Given the description of an element on the screen output the (x, y) to click on. 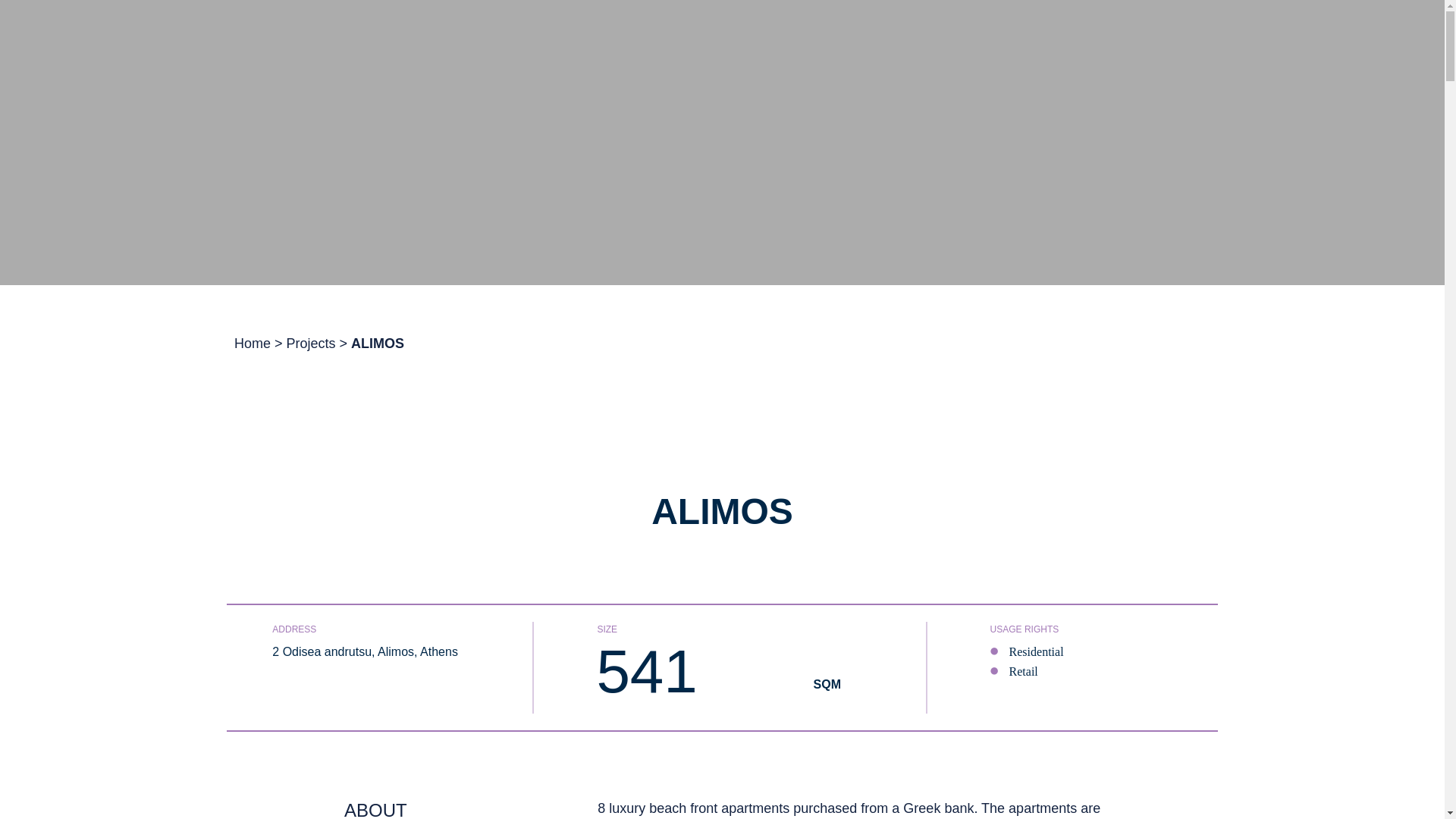
Home (252, 343)
Projects (311, 343)
